Given the description of an element on the screen output the (x, y) to click on. 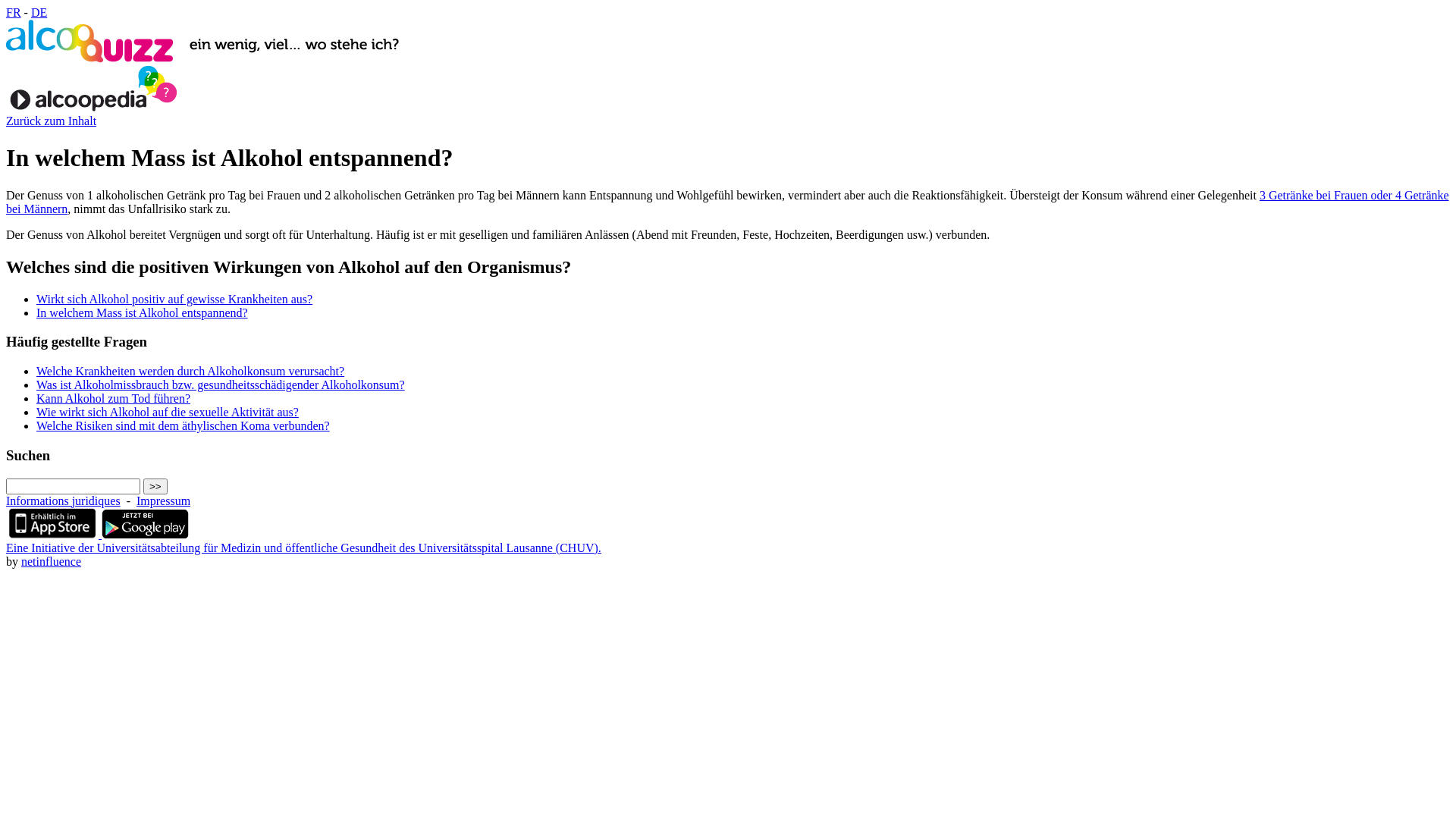
Informations juridiques Element type: text (63, 500)
netinfluence Element type: text (51, 561)
Wirkt sich Alkohol positiv auf gewisse Krankheiten aus? Element type: text (174, 298)
Welche Krankheiten werden durch Alkoholkonsum verursacht? Element type: text (190, 370)
>> Element type: text (155, 486)
FR Element type: text (13, 12)
In welchem Mass ist Alkohol entspannend? Element type: text (141, 312)
Impressum Element type: text (163, 500)
DE Element type: text (39, 12)
